Given the description of an element on the screen output the (x, y) to click on. 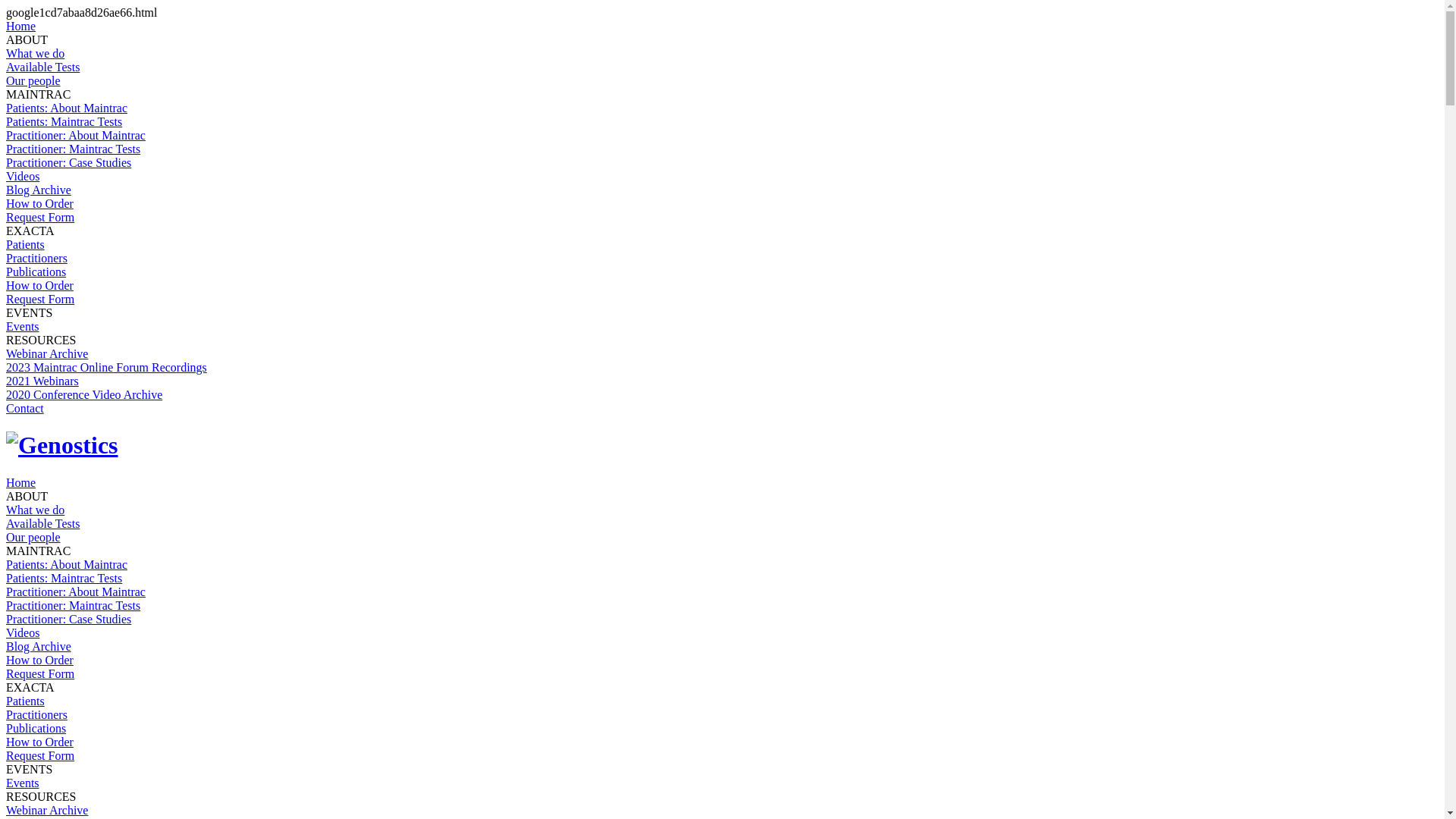
Publications Element type: text (35, 727)
Webinar Archive Element type: text (46, 809)
Request Form Element type: text (40, 298)
Request Form Element type: text (40, 216)
Patients: Maintrac Tests Element type: text (64, 121)
Events Element type: text (22, 326)
Videos Element type: text (22, 632)
Contact Element type: text (24, 407)
Patients Element type: text (25, 244)
Request Form Element type: text (40, 755)
Blog Archive Element type: text (38, 646)
Practitioner: About Maintrac Element type: text (75, 134)
How to Order Element type: text (39, 203)
How to Order Element type: text (39, 741)
Practitioners Element type: text (36, 714)
Practitioner: About Maintrac Element type: text (75, 591)
2021 Webinars Element type: text (42, 380)
How to Order Element type: text (39, 659)
Practitioners Element type: text (36, 257)
Request Form Element type: text (40, 673)
2023 Maintrac Online Forum Recordings Element type: text (106, 366)
2020 Conference Video Archive Element type: text (84, 394)
Practitioner: Case Studies Element type: text (68, 162)
Our people Element type: text (33, 80)
Patients Element type: text (25, 700)
Publications Element type: text (35, 271)
How to Order Element type: text (39, 285)
Available Tests Element type: text (42, 523)
Patients: About Maintrac Element type: text (66, 107)
Home Element type: text (20, 482)
Practitioner: Maintrac Tests Element type: text (73, 148)
Events Element type: text (22, 782)
Patients: Maintrac Tests Element type: text (64, 577)
What we do Element type: text (35, 509)
Available Tests Element type: text (42, 66)
Our people Element type: text (33, 536)
Practitioner: Maintrac Tests Element type: text (73, 605)
What we do Element type: text (35, 53)
Practitioner: Case Studies Element type: text (68, 618)
Home Element type: text (20, 25)
Videos Element type: text (22, 175)
Webinar Archive Element type: text (46, 353)
Blog Archive Element type: text (38, 189)
Patients: About Maintrac Element type: text (66, 564)
